Given the description of an element on the screen output the (x, y) to click on. 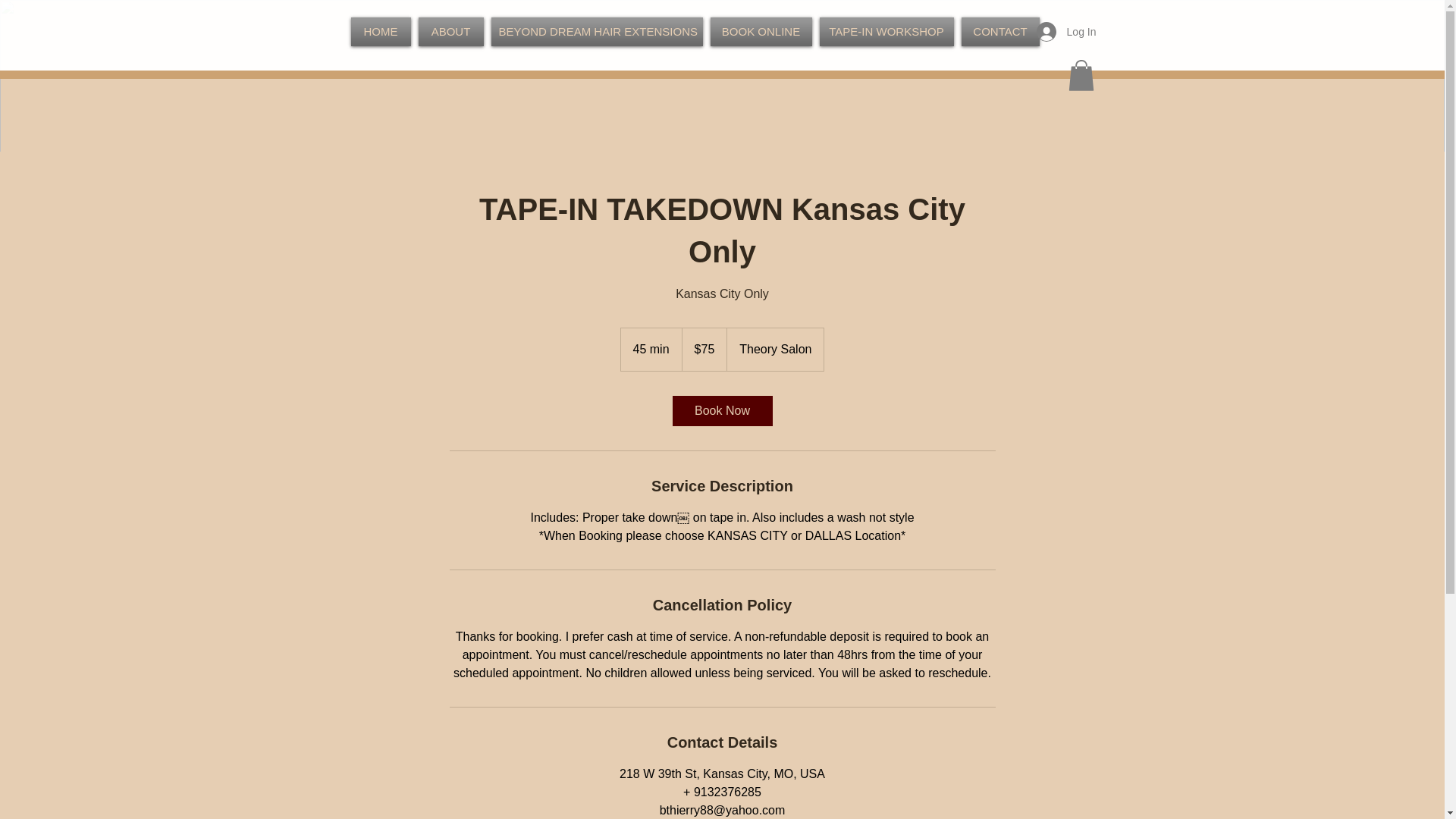
CONTACT (997, 31)
BEYOND DREAM HAIR EXTENSIONS (596, 31)
Log In (1066, 31)
BOOK ONLINE (760, 31)
TAPE-IN WORKSHOP (886, 31)
HOME (381, 31)
ABOUT (449, 31)
Book Now (721, 410)
